Given the description of an element on the screen output the (x, y) to click on. 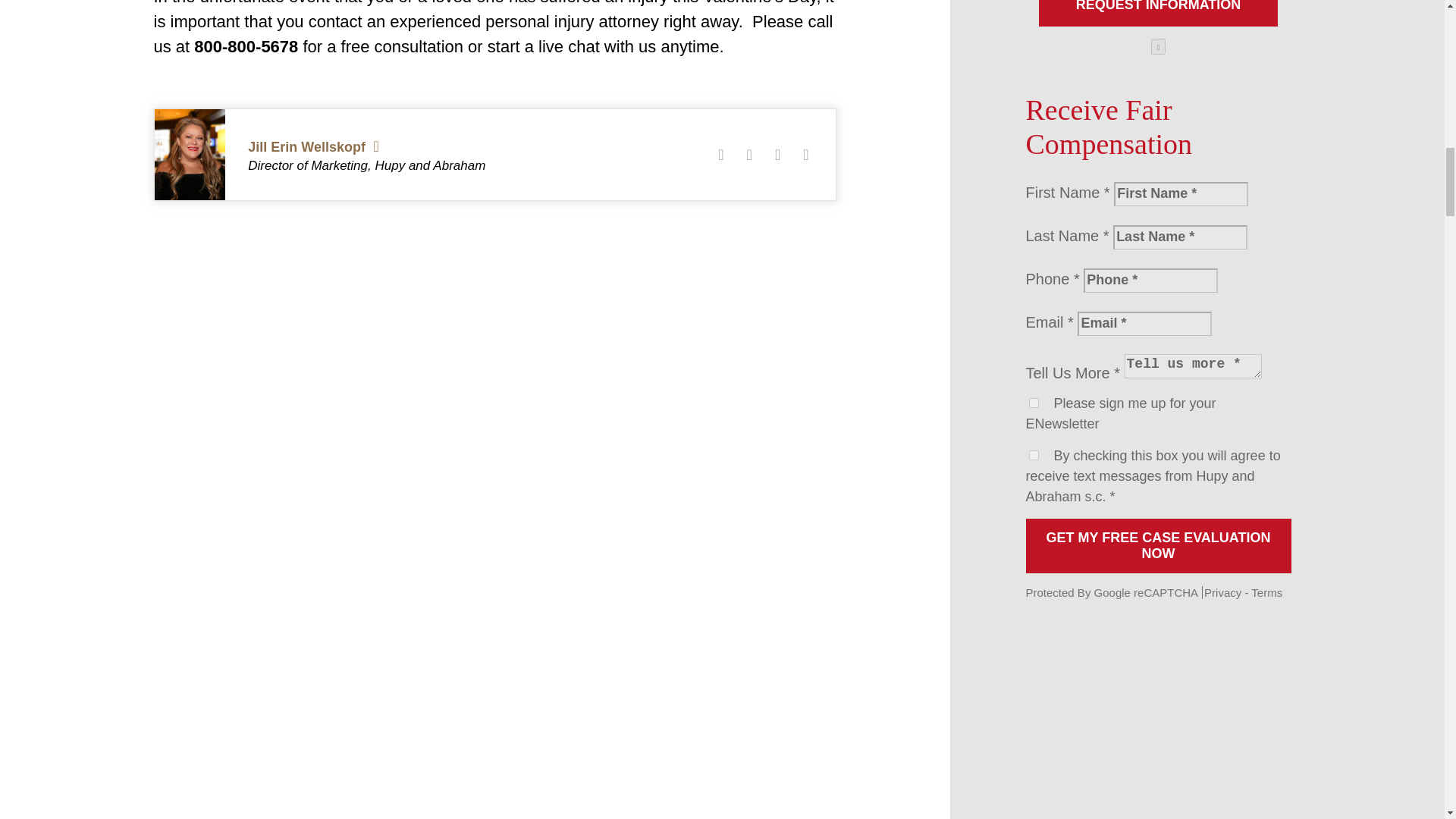
Please sign me up for your ENewsletter (1032, 402)
